Given the description of an element on the screen output the (x, y) to click on. 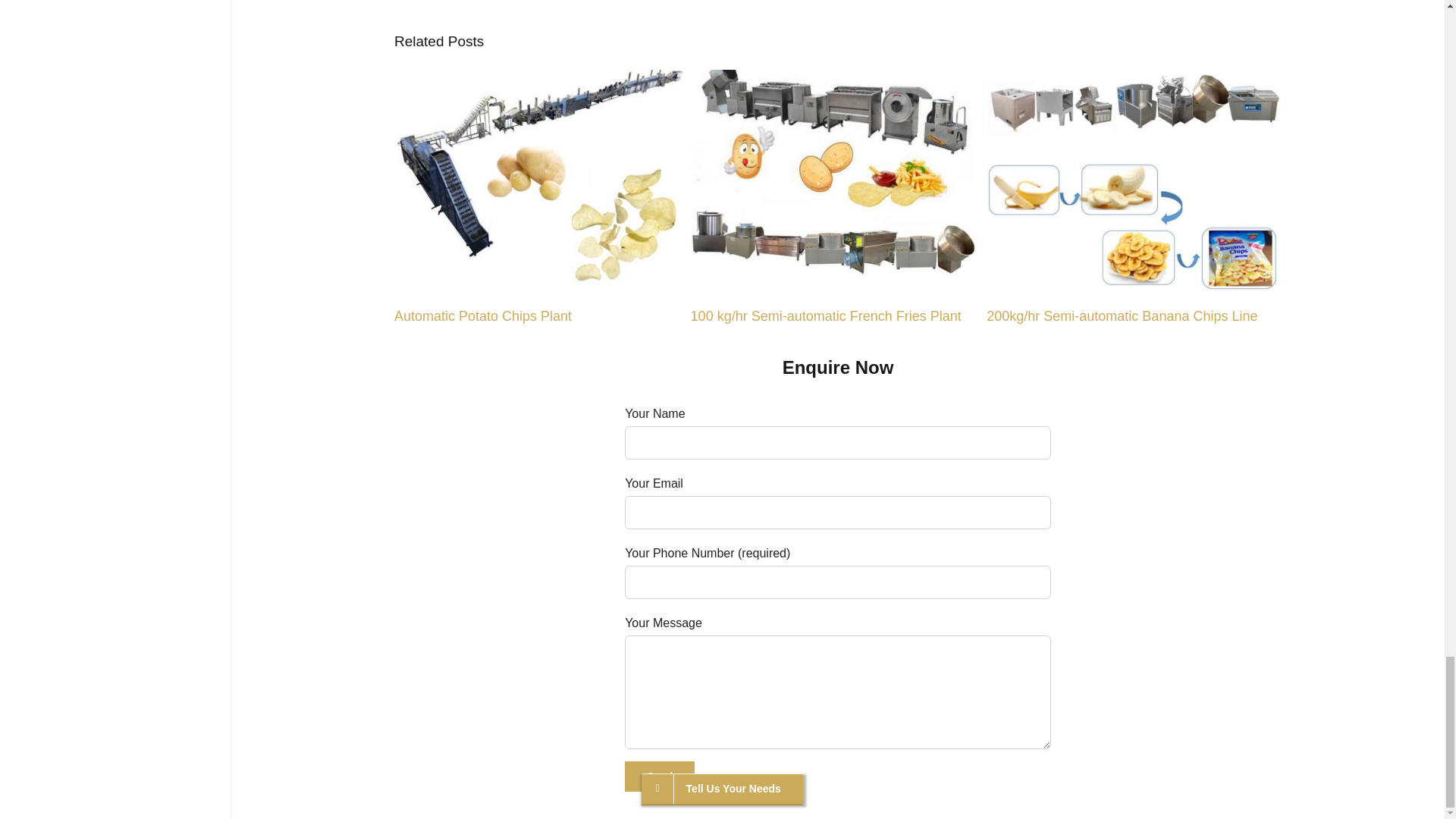
Send (659, 776)
